Given the description of an element on the screen output the (x, y) to click on. 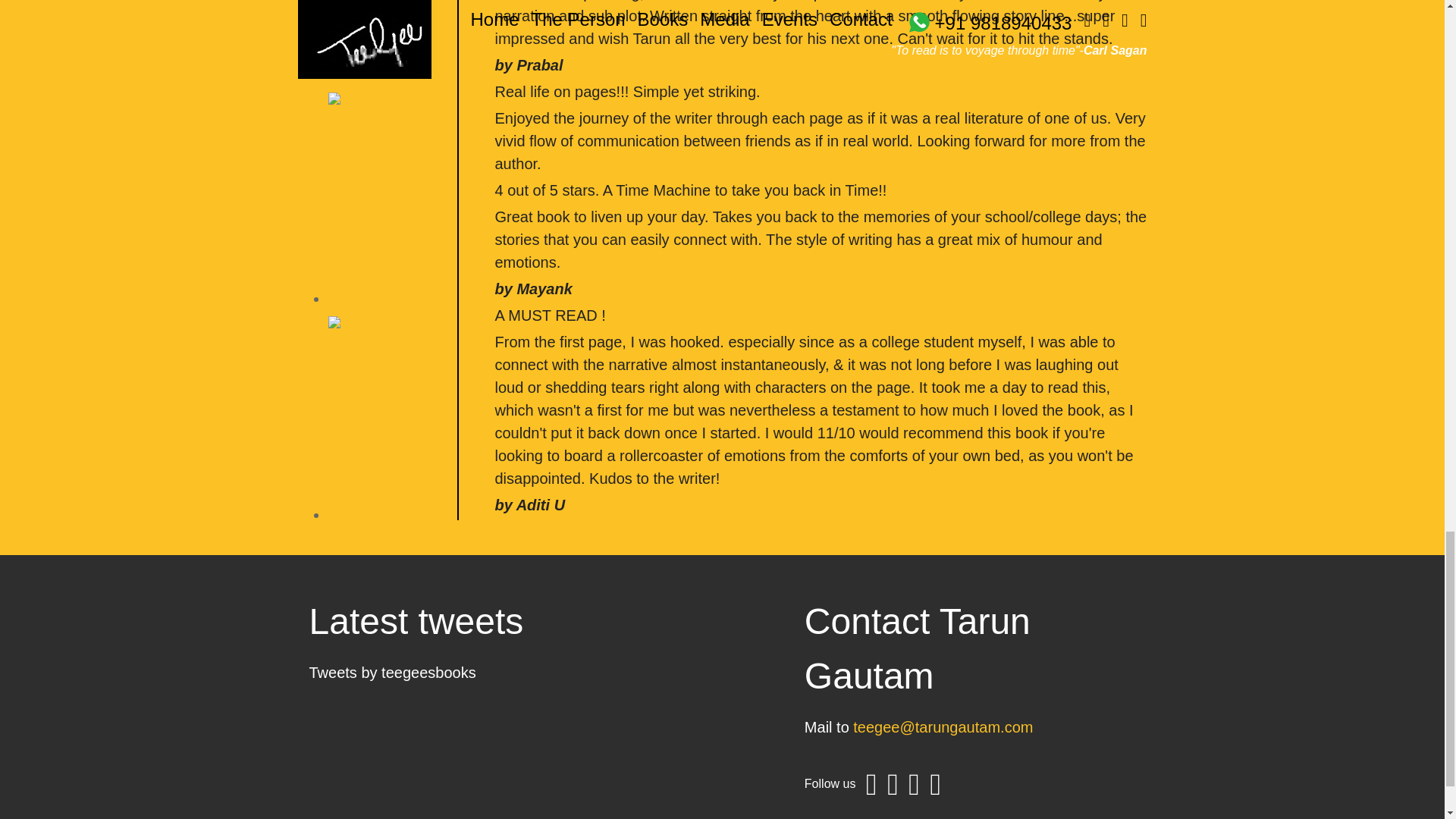
Tweets by teegeesbooks (392, 672)
